Given the description of an element on the screen output the (x, y) to click on. 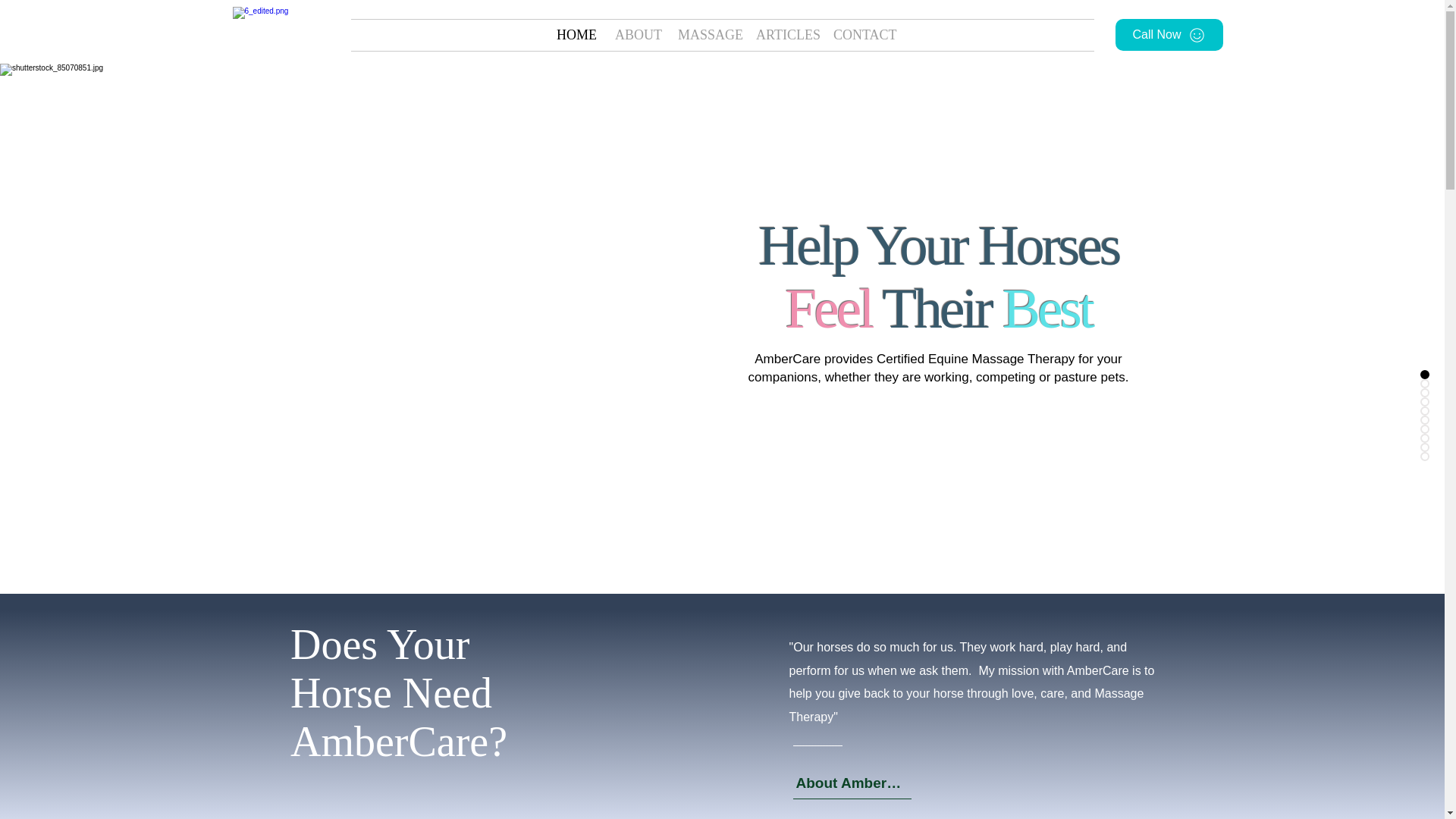
MASSAGE (705, 34)
About AmberCare (852, 783)
CONTACT (860, 34)
ARTICLES (783, 34)
Call Now (1169, 34)
ABOUT (635, 34)
HOME (574, 34)
AmberCareLogo (274, 34)
